Given the description of an element on the screen output the (x, y) to click on. 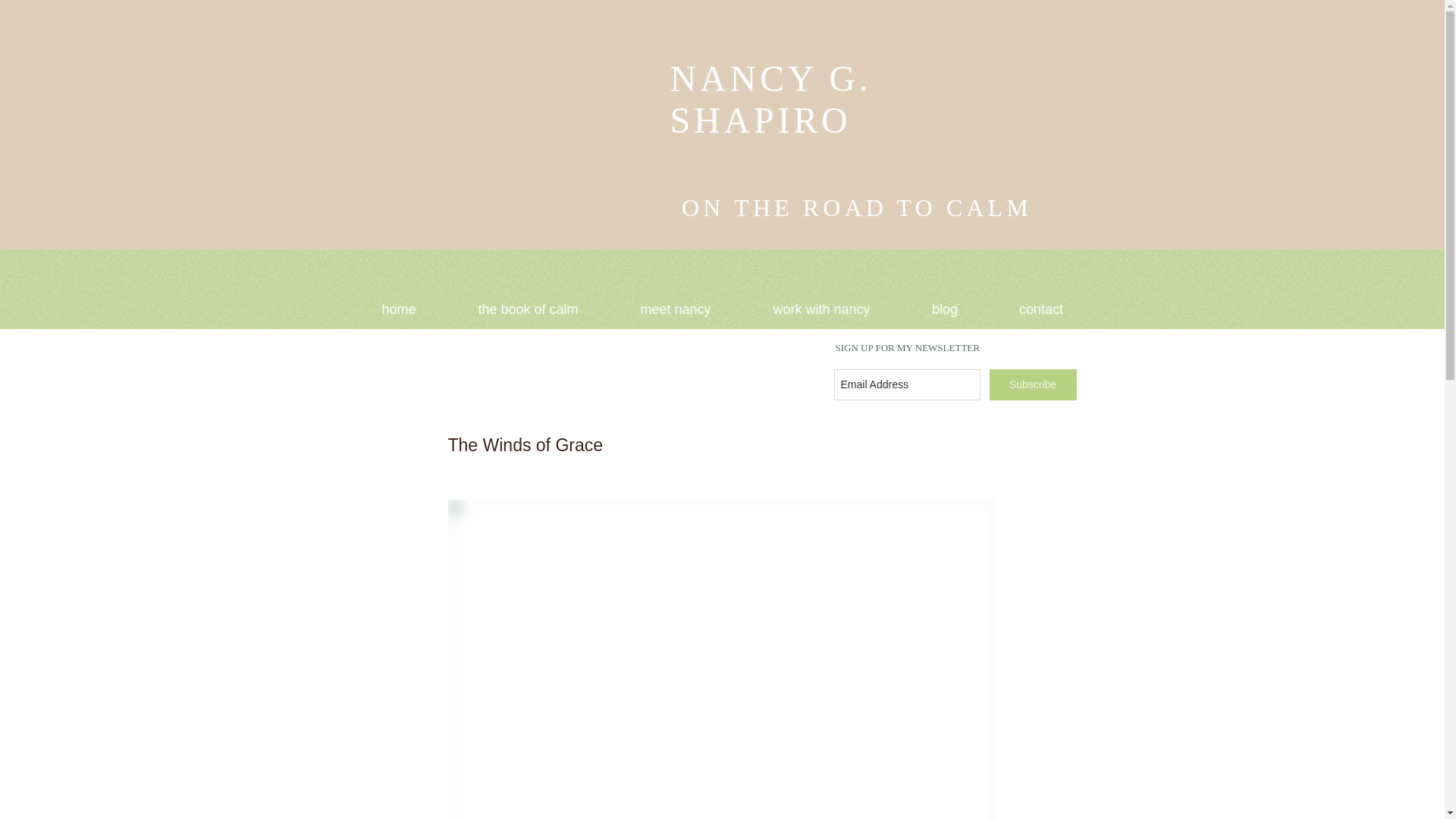
home (398, 309)
contact (1041, 309)
the book of calm (528, 309)
Subscribe (1031, 384)
meet nancy (676, 309)
blog (944, 309)
